Given the description of an element on the screen output the (x, y) to click on. 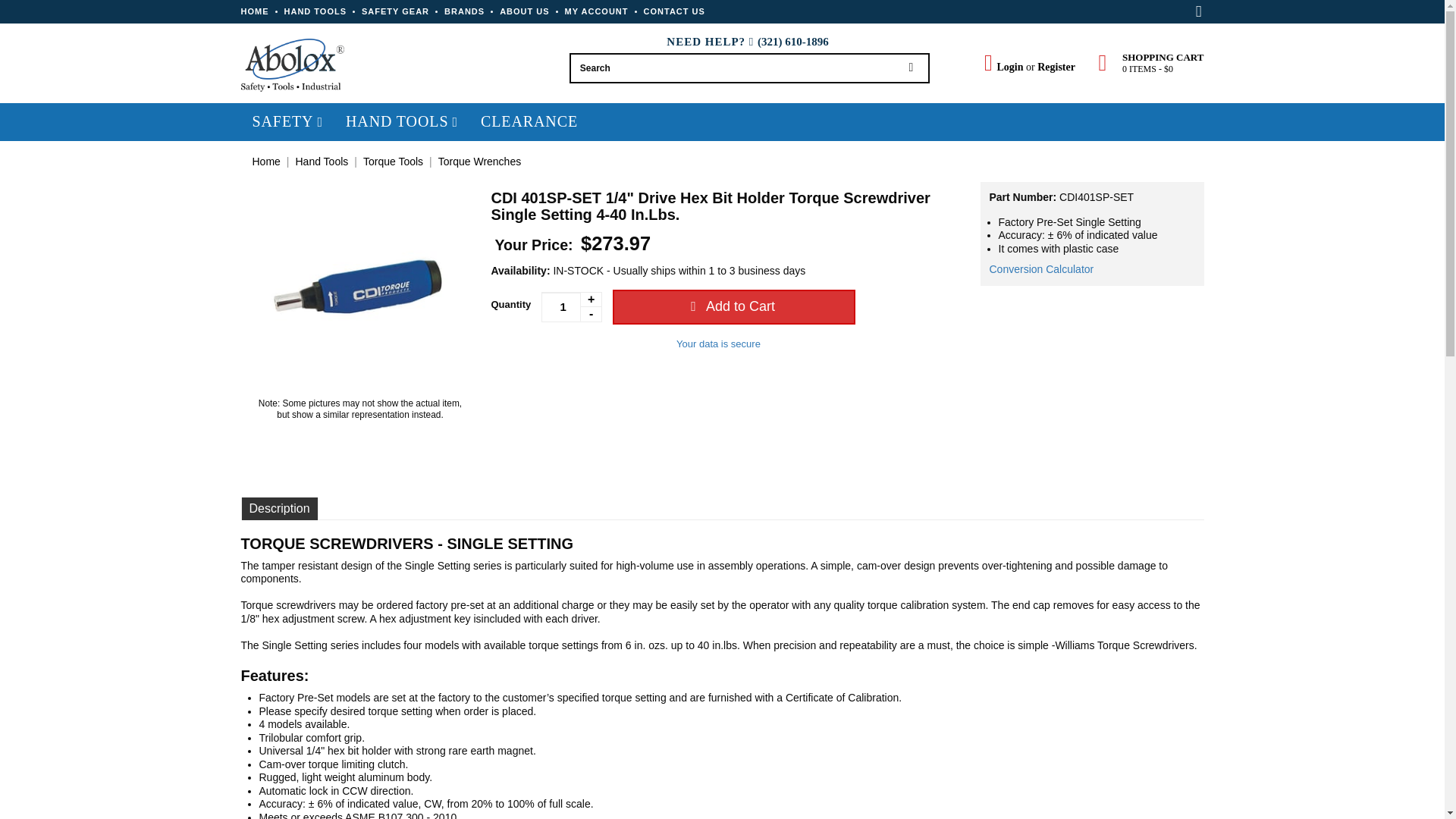
SAFETY GEAR (395, 11)
HAND TOOLS (314, 11)
CONTACT US (673, 11)
HOME (255, 11)
Login (1003, 67)
ABOUT US (523, 11)
MY ACCOUNT (596, 11)
SAFETY (287, 121)
BRANDS (464, 11)
1 (571, 306)
